Given the description of an element on the screen output the (x, y) to click on. 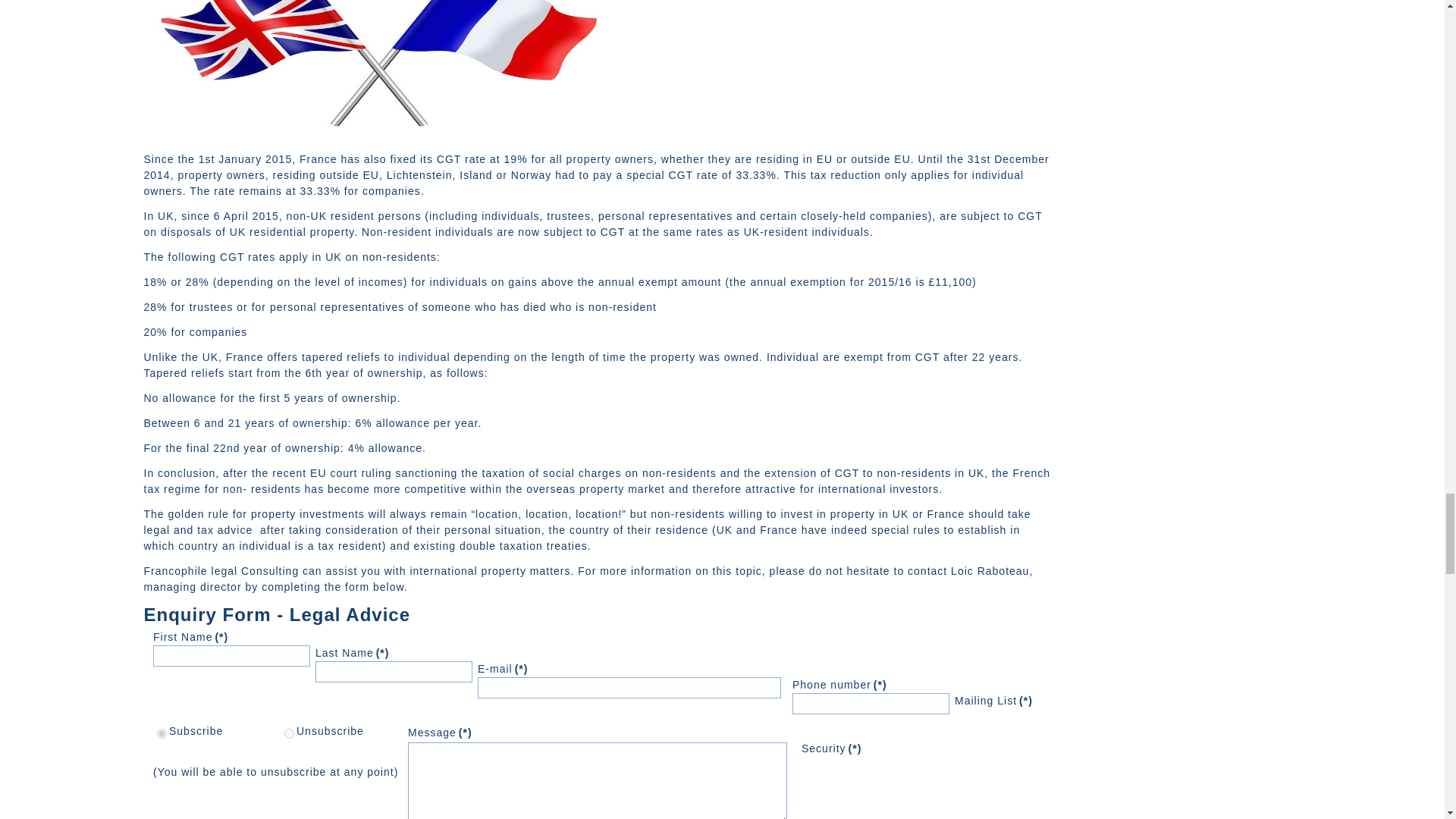
Subscribe (162, 733)
Unsubscribe (288, 733)
Cle France blog pages (379, 133)
